Given the description of an element on the screen output the (x, y) to click on. 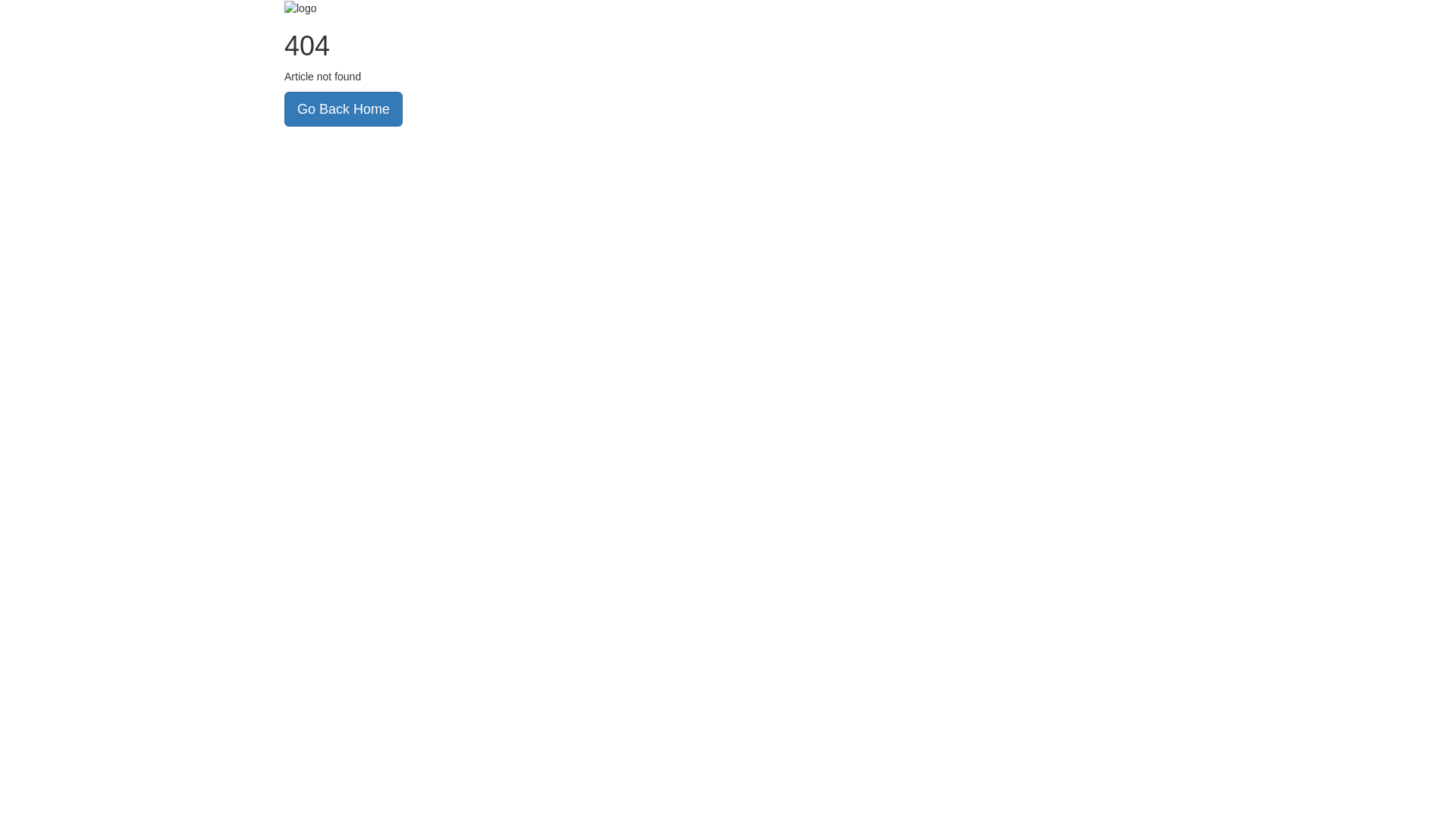
Go Back Home Element type: text (343, 108)
